Given the description of an element on the screen output the (x, y) to click on. 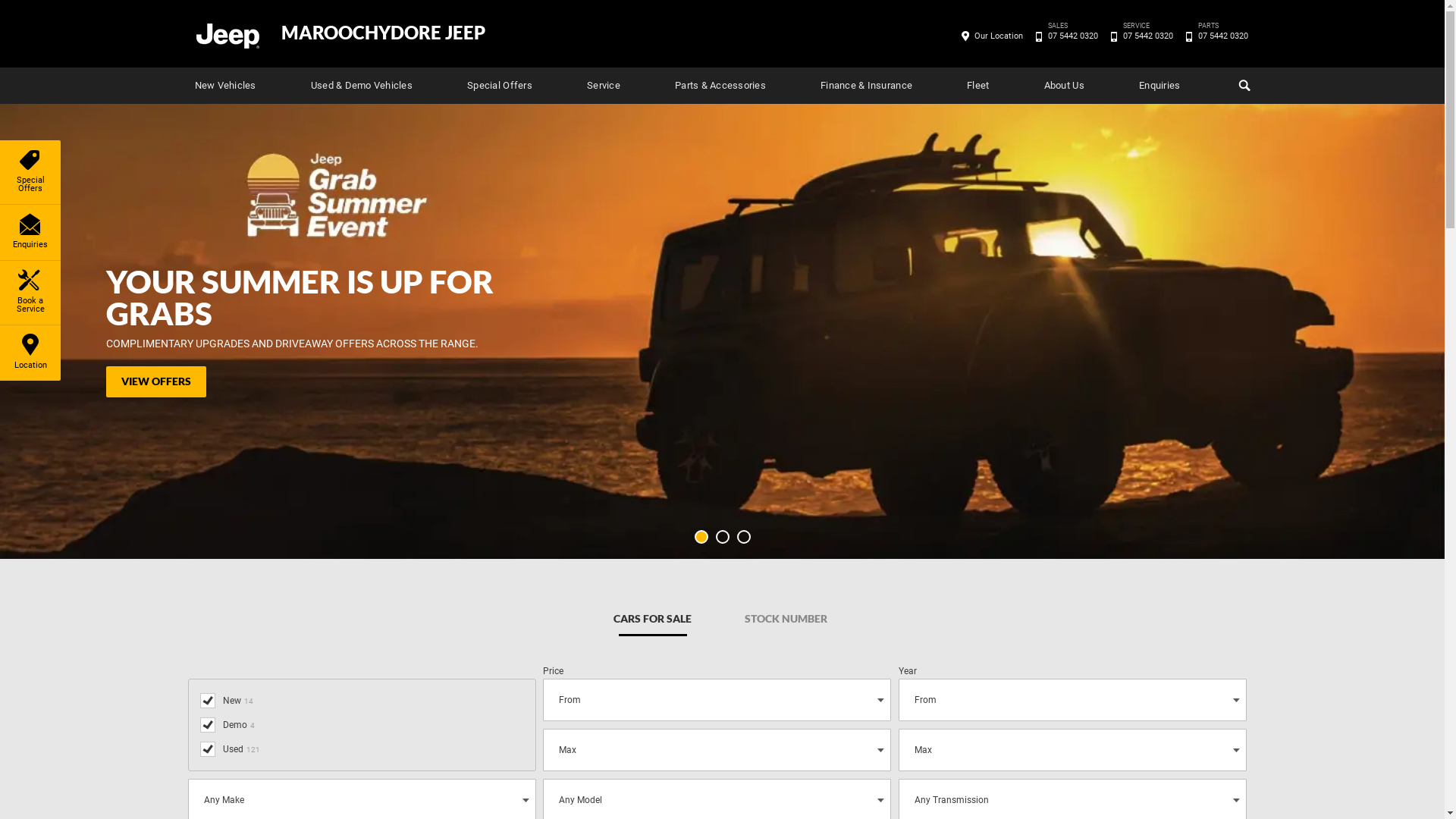
CARS FOR SALE Element type: text (652, 618)
Book a Service Element type: text (30, 292)
SALES
07 5442 0320 Element type: text (1071, 35)
Search Element type: text (1241, 85)
Enquiries Element type: text (30, 232)
New Vehicles Element type: text (224, 85)
MAROOCHYDORE JEEP Element type: text (382, 32)
Finance & Insurance Element type: text (866, 85)
VIEW OFFERS Element type: text (156, 381)
Fleet Element type: text (977, 85)
STOCK NUMBER Element type: text (785, 618)
Service Element type: text (603, 85)
Maroochydore Jeep Element type: hover (226, 34)
PARTS
07 5442 0320 Element type: text (1222, 35)
Enquiries Element type: text (1159, 85)
About Us Element type: text (1064, 85)
Parts & Accessories Element type: text (719, 85)
Our Location Element type: text (998, 35)
SERVICE
07 5442 0320 Element type: text (1147, 35)
Used & Demo Vehicles Element type: text (361, 85)
Special Offers Element type: text (499, 85)
Special Offers Element type: text (30, 171)
Location Element type: text (30, 352)
